Given the description of an element on the screen output the (x, y) to click on. 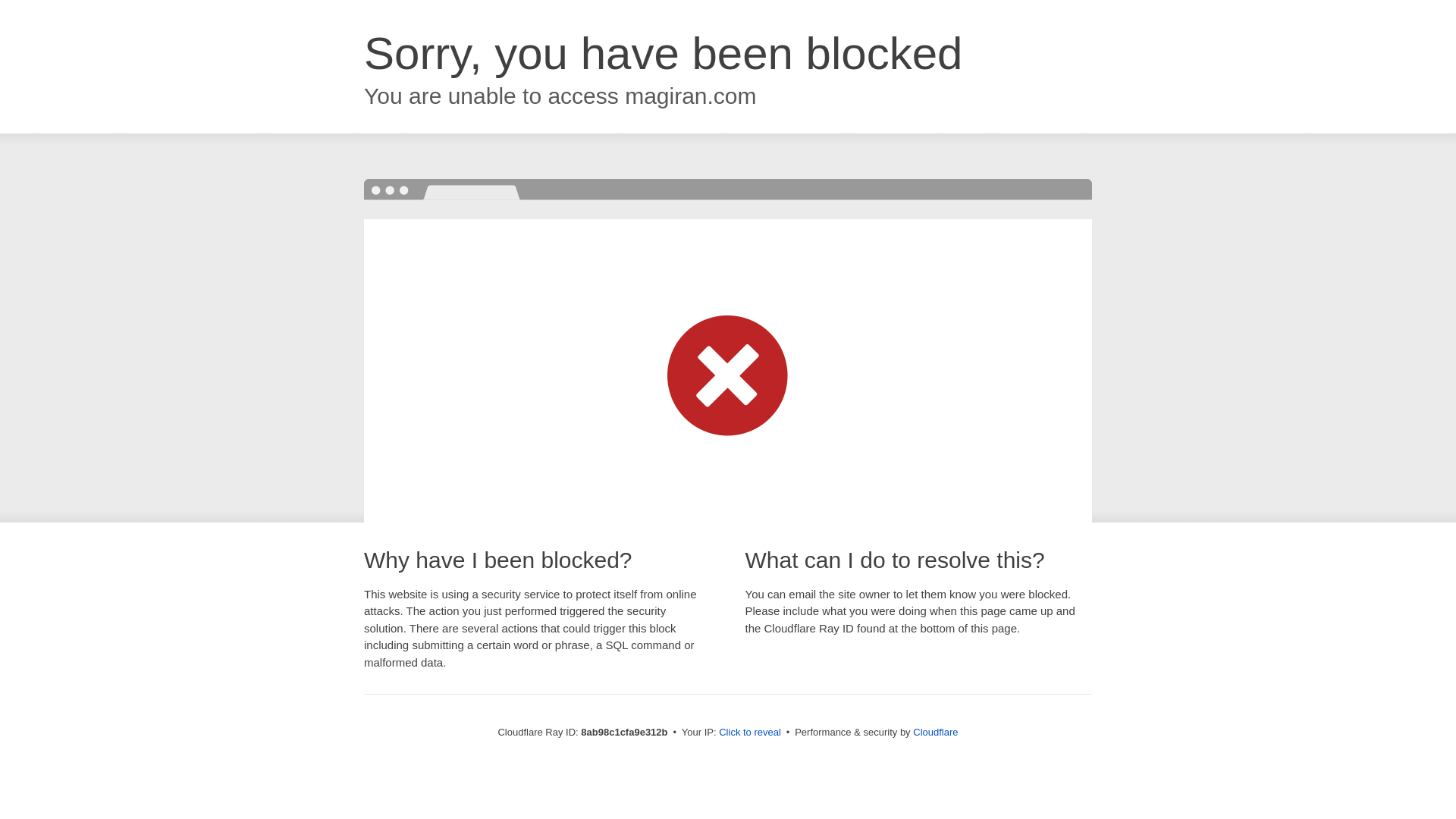
Cloudflare (935, 731)
Click to reveal (749, 732)
